Given the description of an element on the screen output the (x, y) to click on. 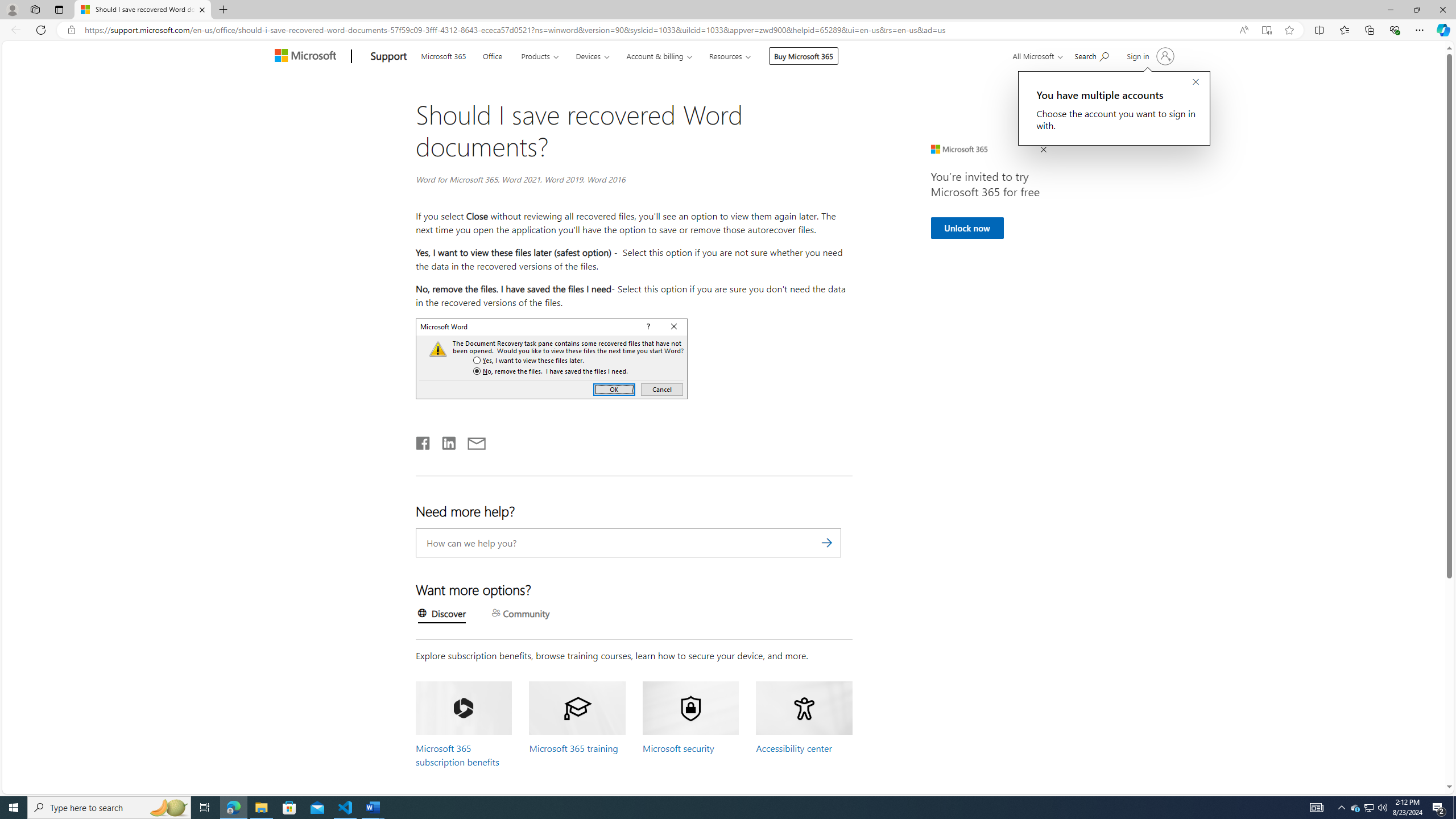
Share on LinkedIn (443, 441)
Back (13, 29)
Sign in to your account (1149, 55)
Split screen (1318, 29)
Minimize (1390, 9)
Close Ad (1043, 149)
Discover (441, 614)
Favorites (1344, 29)
Workspaces (34, 9)
Address and search bar (658, 29)
Community (521, 614)
Microsoft 365 subscription benefits (457, 755)
View site information (70, 29)
